Given the description of an element on the screen output the (x, y) to click on. 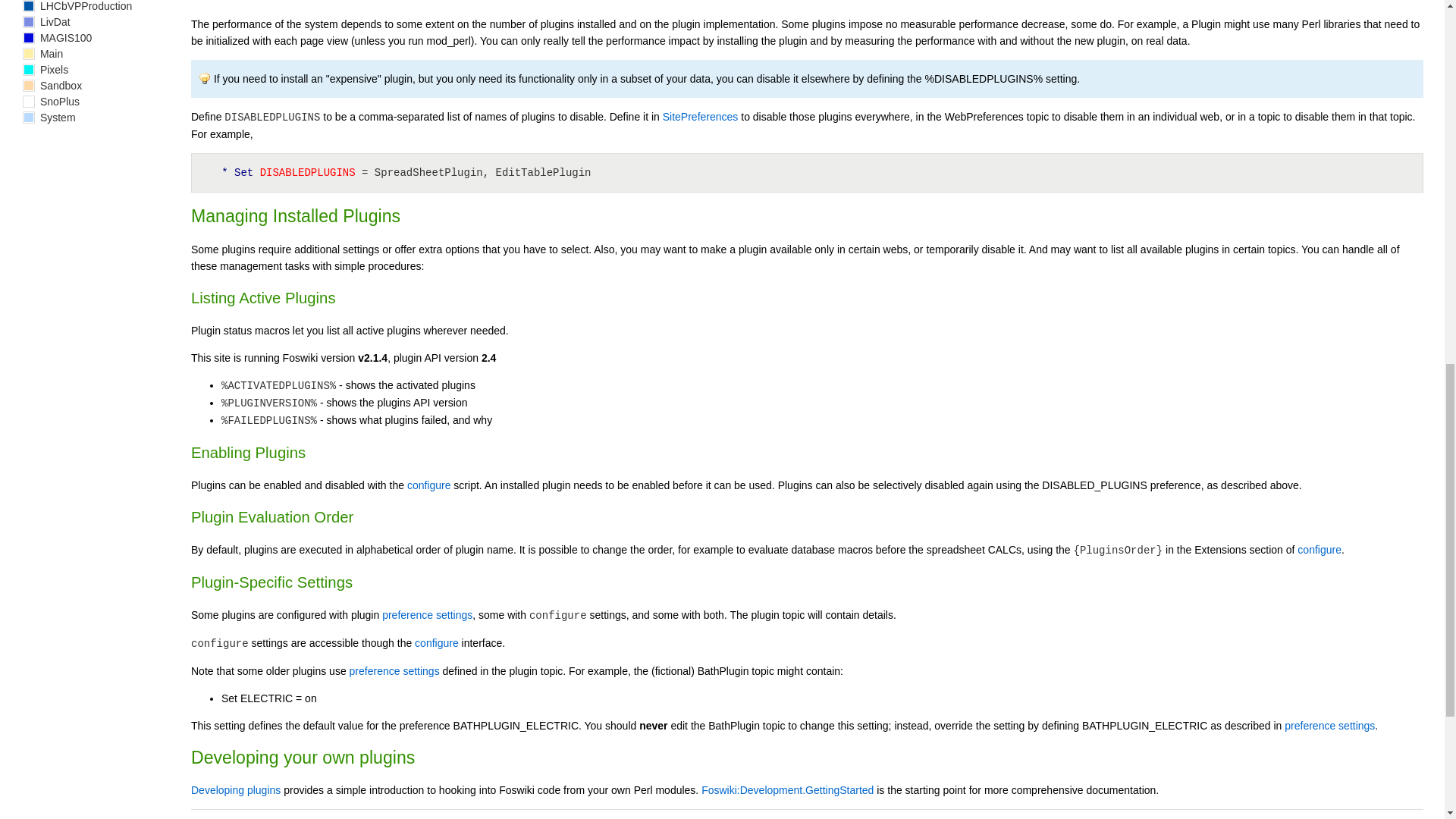
configure (1318, 549)
AdminDocumentationCategory (512, 818)
Foswiki:Development.GettingStarted (787, 789)
preference settings (1329, 725)
Developing plugins (235, 789)
configure (436, 643)
TIP (204, 78)
configure (429, 485)
SitePreferences (700, 116)
